Given the description of an element on the screen output the (x, y) to click on. 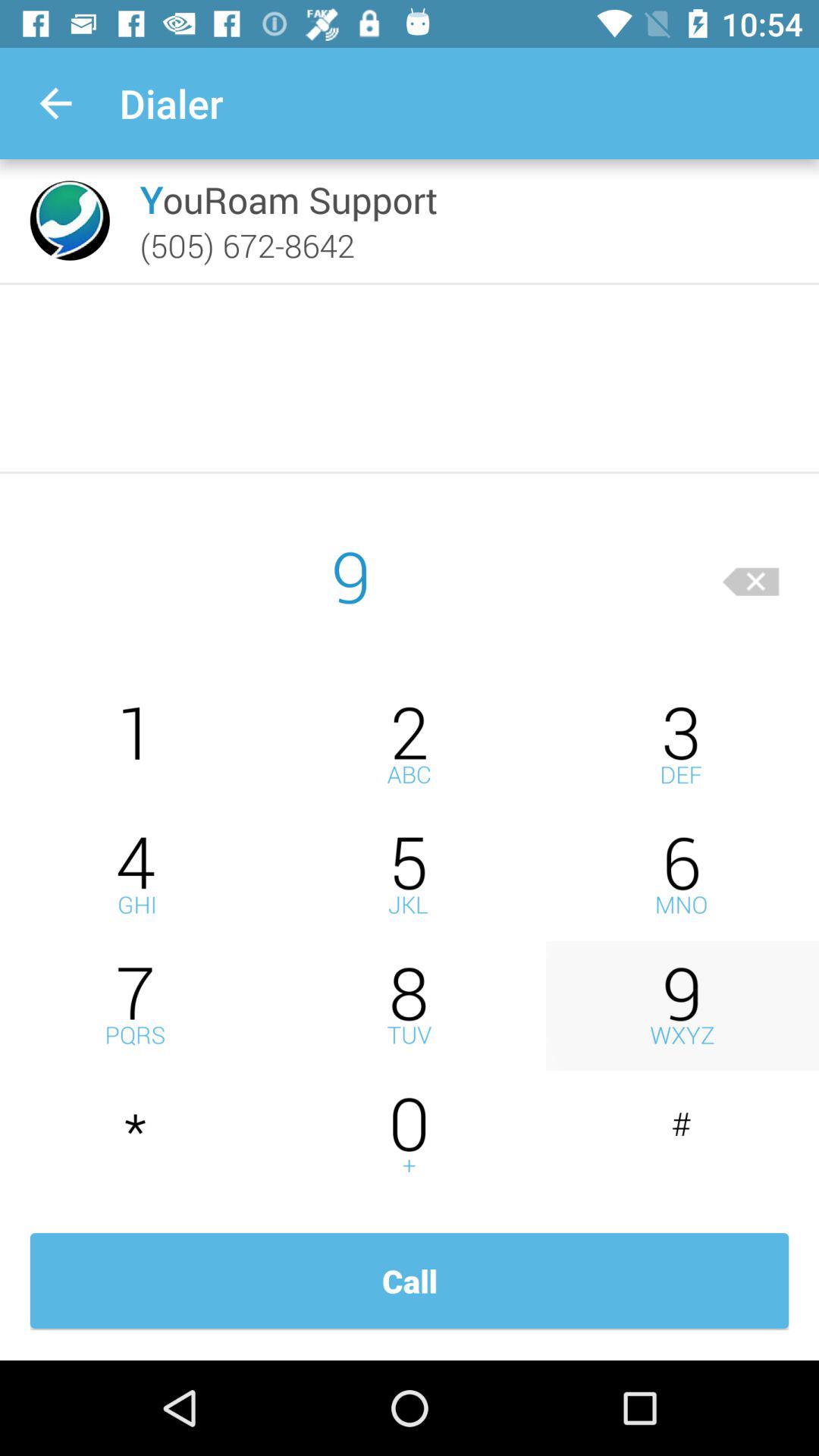
6 (682, 875)
